Given the description of an element on the screen output the (x, y) to click on. 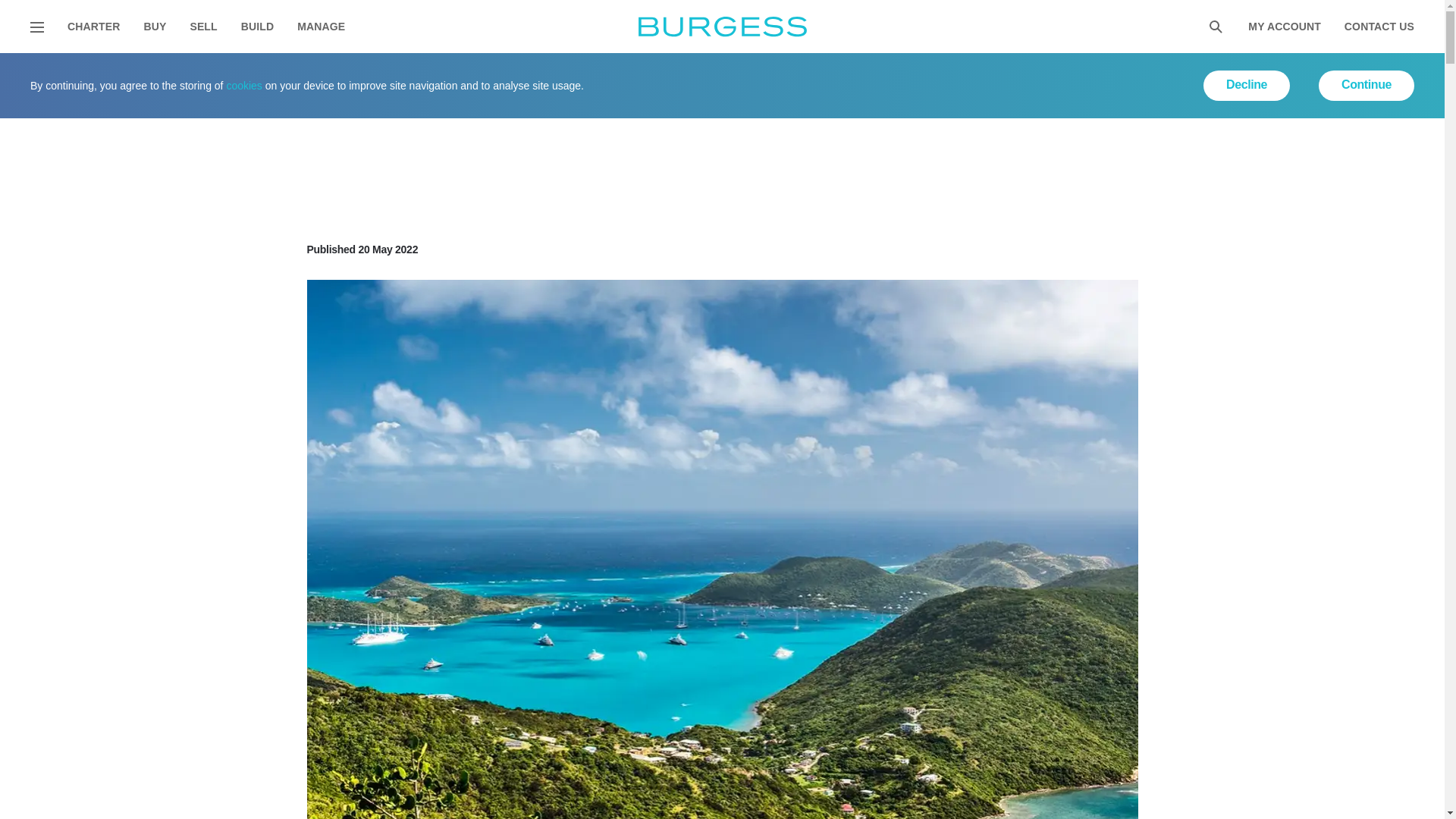
cookies (243, 85)
MANAGE (321, 26)
CHARTER (92, 26)
News (177, 72)
Open the search panel (1214, 26)
Home (55, 72)
CONTACT US (1378, 26)
Decline (1247, 85)
BUY (153, 26)
SELL (202, 26)
Continue (1366, 85)
Editorial (116, 72)
BUILD (257, 26)
MY ACCOUNT (1283, 26)
